Given the description of an element on the screen output the (x, y) to click on. 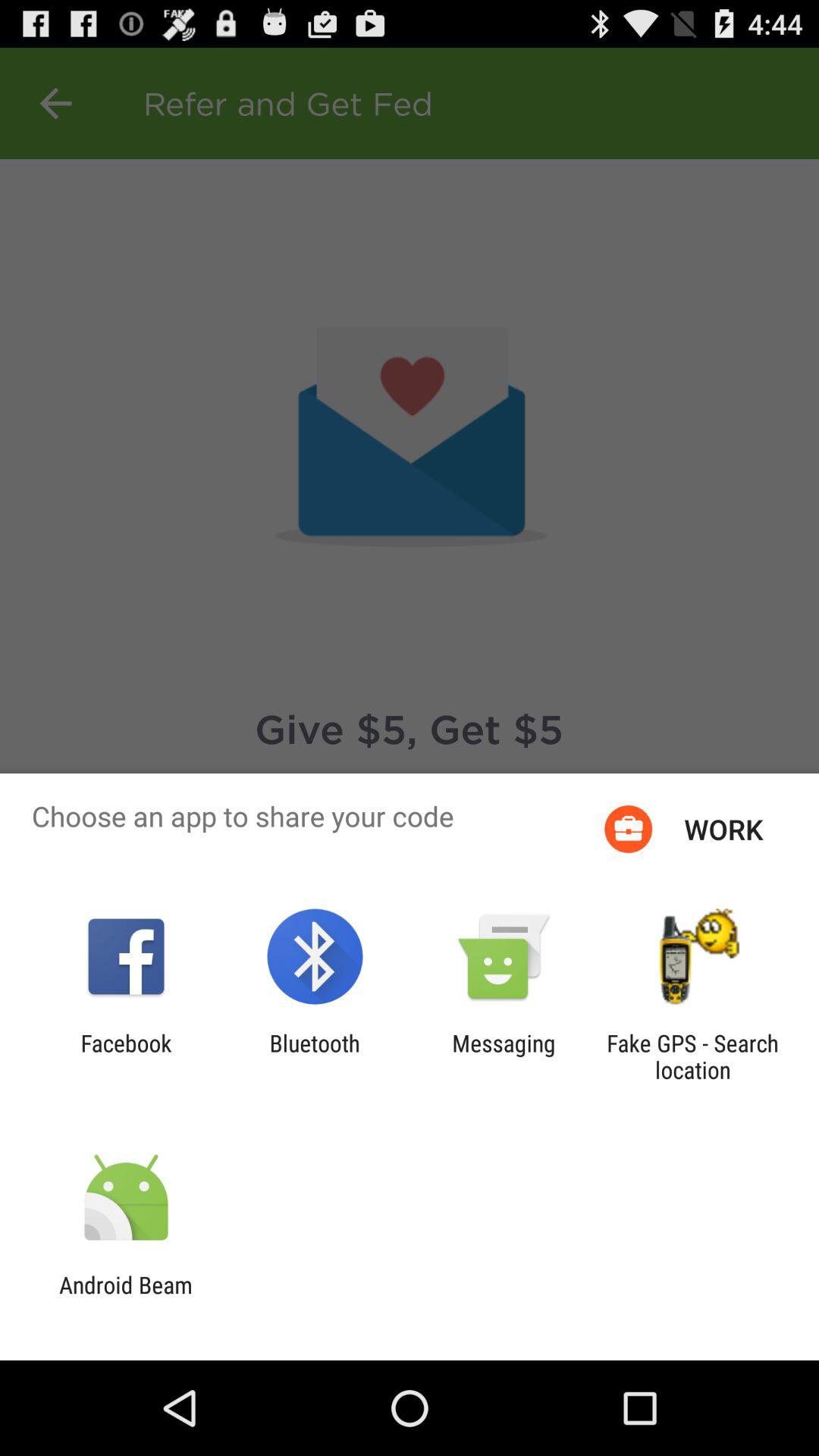
flip until the messaging item (503, 1056)
